Given the description of an element on the screen output the (x, y) to click on. 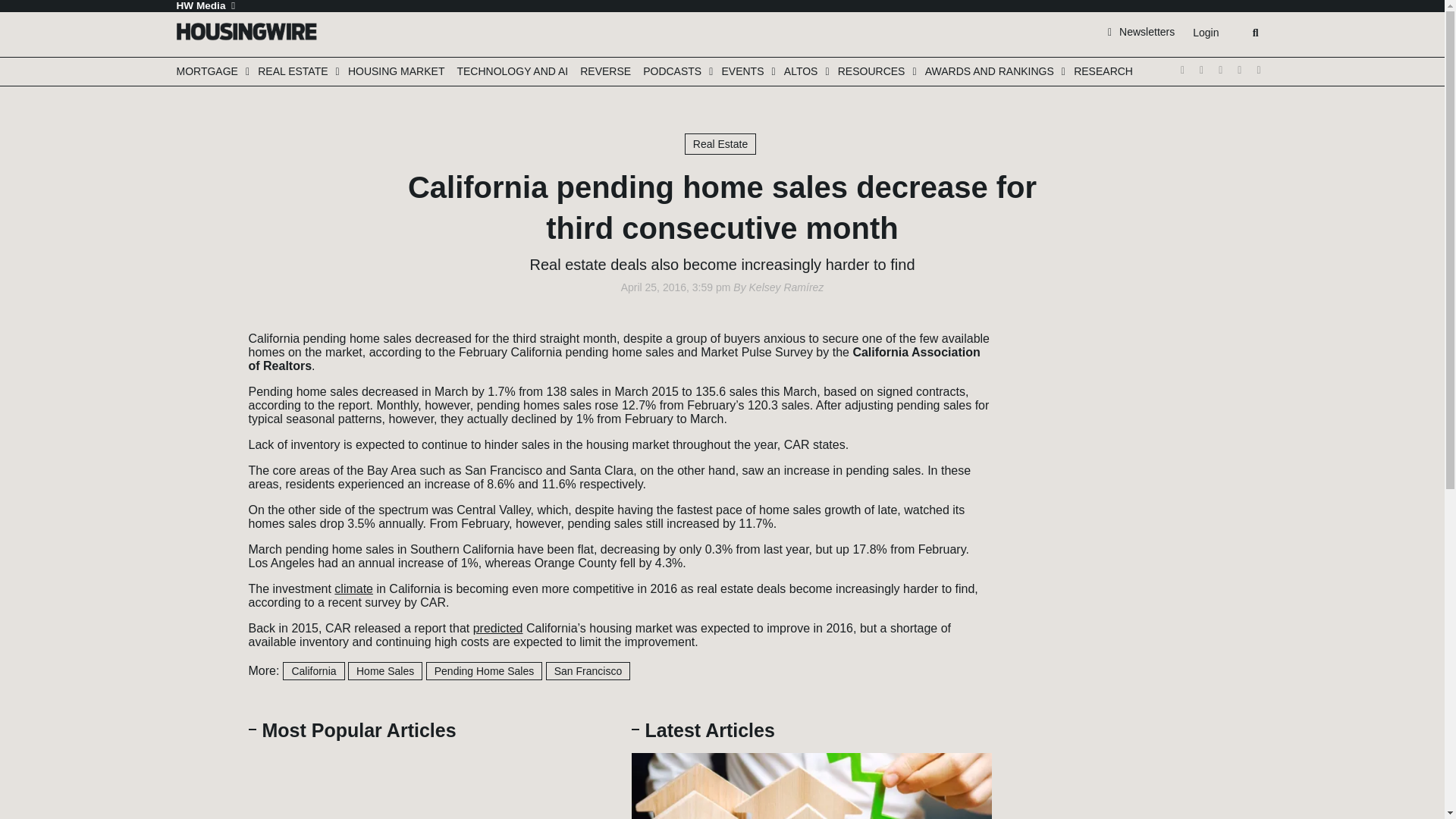
Click to share on Facebook (203, 356)
Newsletters (1141, 31)
Click to email a link to a friend (203, 401)
Click to copy link (203, 424)
open search bar (1255, 32)
Click to share on Twitter (203, 333)
Login (1205, 32)
Click to share on LinkedIn (203, 379)
